Given the description of an element on the screen output the (x, y) to click on. 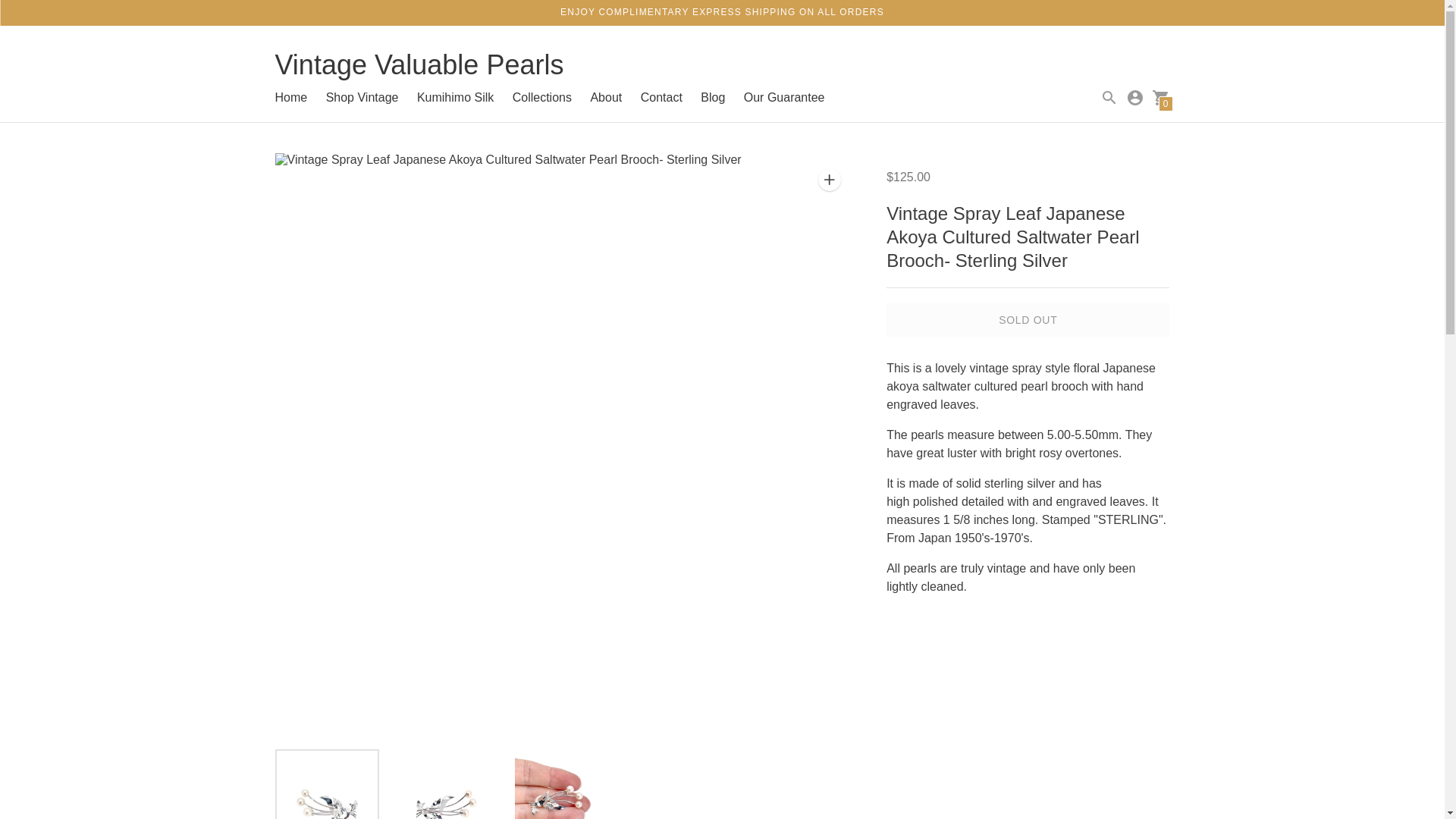
Shop Vintage (362, 97)
Kumihimo Silk (454, 97)
Vintage Valuable Pearls (419, 69)
Collections (542, 97)
Home (291, 97)
ENJOY COMPLIMENTARY EXPRESS SHIPPING ON ALL ORDERS (721, 11)
